Given the description of an element on the screen output the (x, y) to click on. 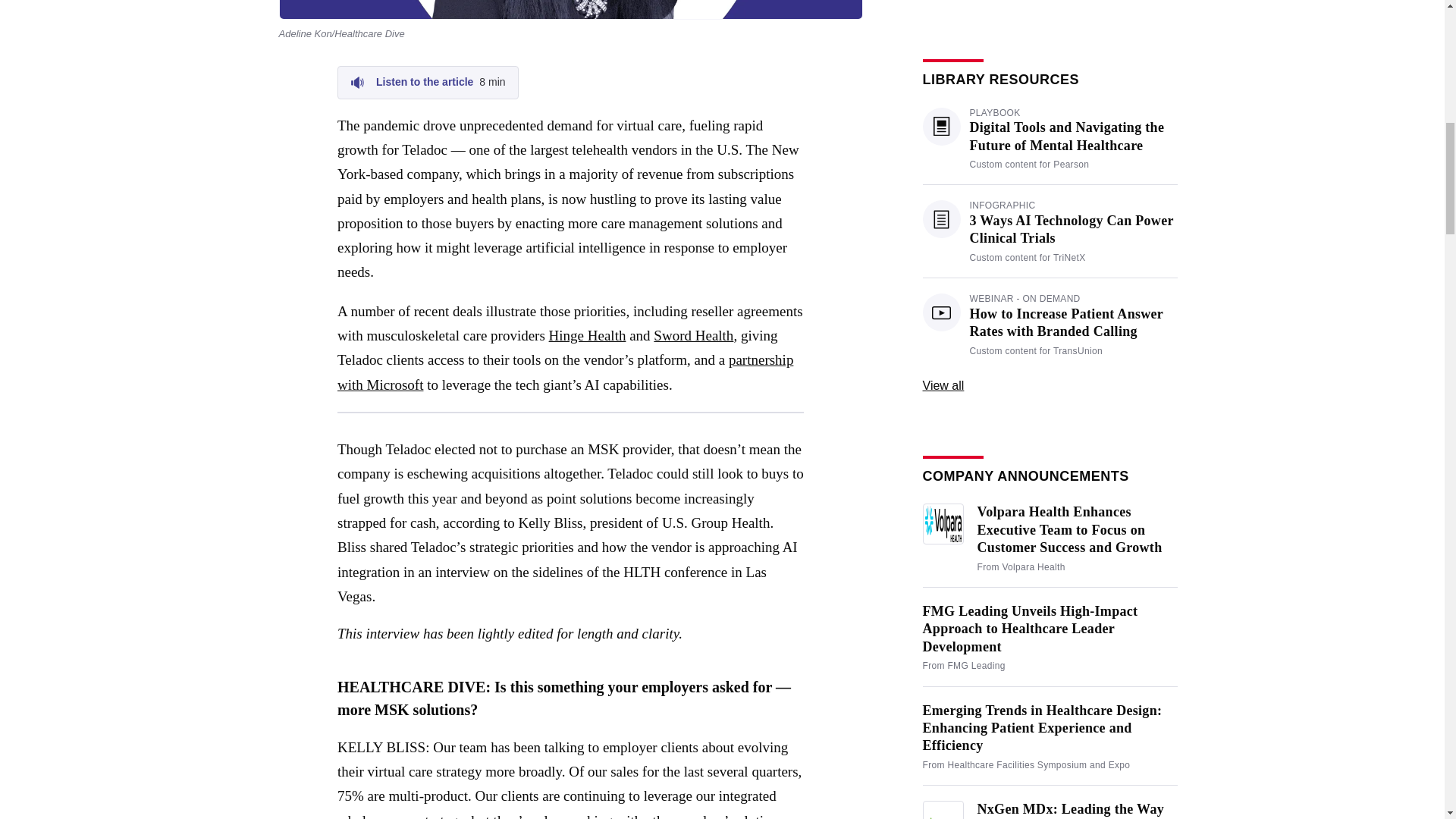
partnership with Microsoft (565, 372)
Hinge Health (427, 82)
Sword Health (587, 335)
